Given the description of an element on the screen output the (x, y) to click on. 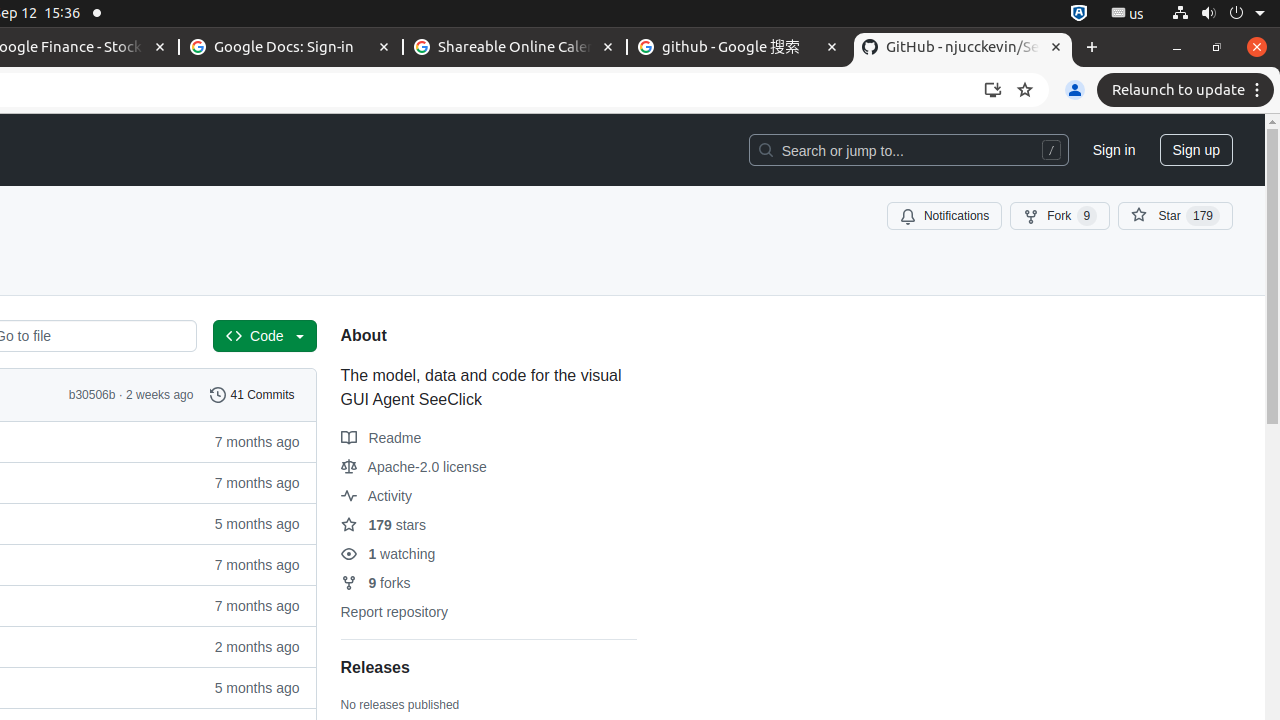
Report repository Element type: link (394, 612)
Bookmark this tab Element type: push-button (1025, 90)
Relaunch to update Element type: push-button (1188, 90)
Sign up Element type: link (1196, 150)
Code Element type: push-button (265, 336)
